Given the description of an element on the screen output the (x, y) to click on. 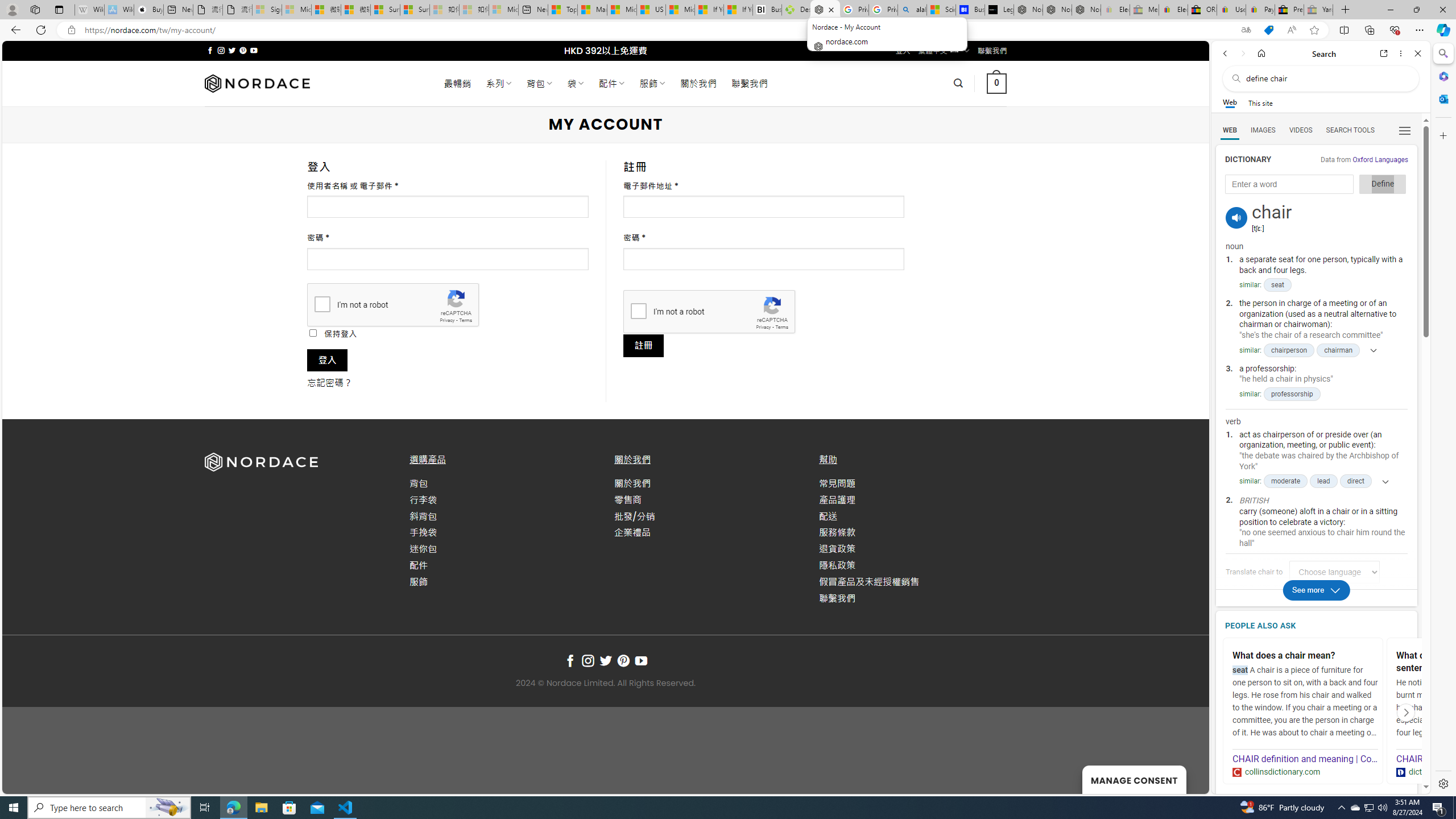
professorship (1291, 393)
Go to top (1185, 777)
